Given the description of an element on the screen output the (x, y) to click on. 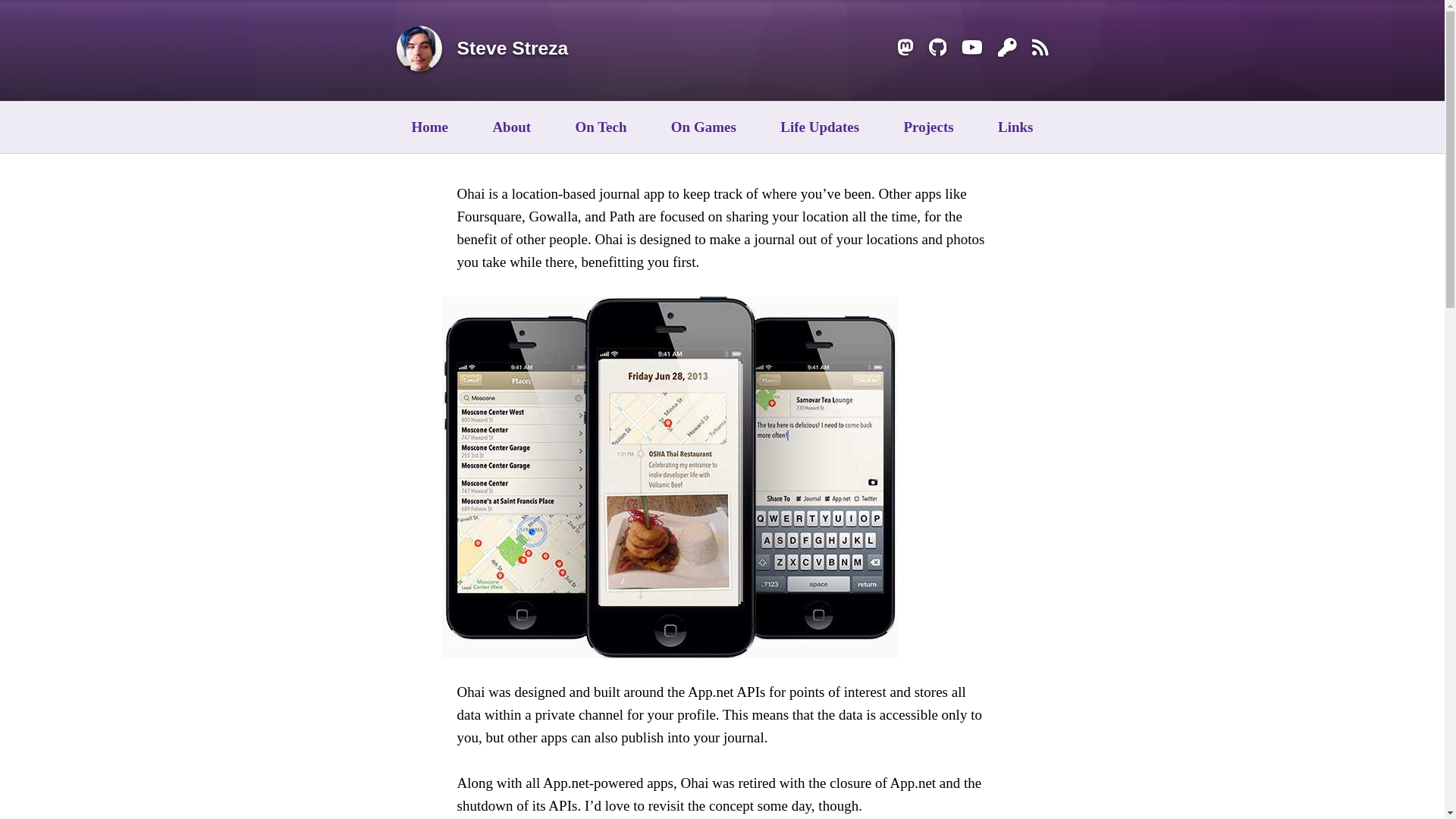
About (511, 126)
Home (429, 126)
Links (1014, 126)
Projects (928, 126)
Life Updates (819, 126)
On Tech (600, 126)
On Games (703, 126)
Steve Streza (512, 50)
